Given the description of an element on the screen output the (x, y) to click on. 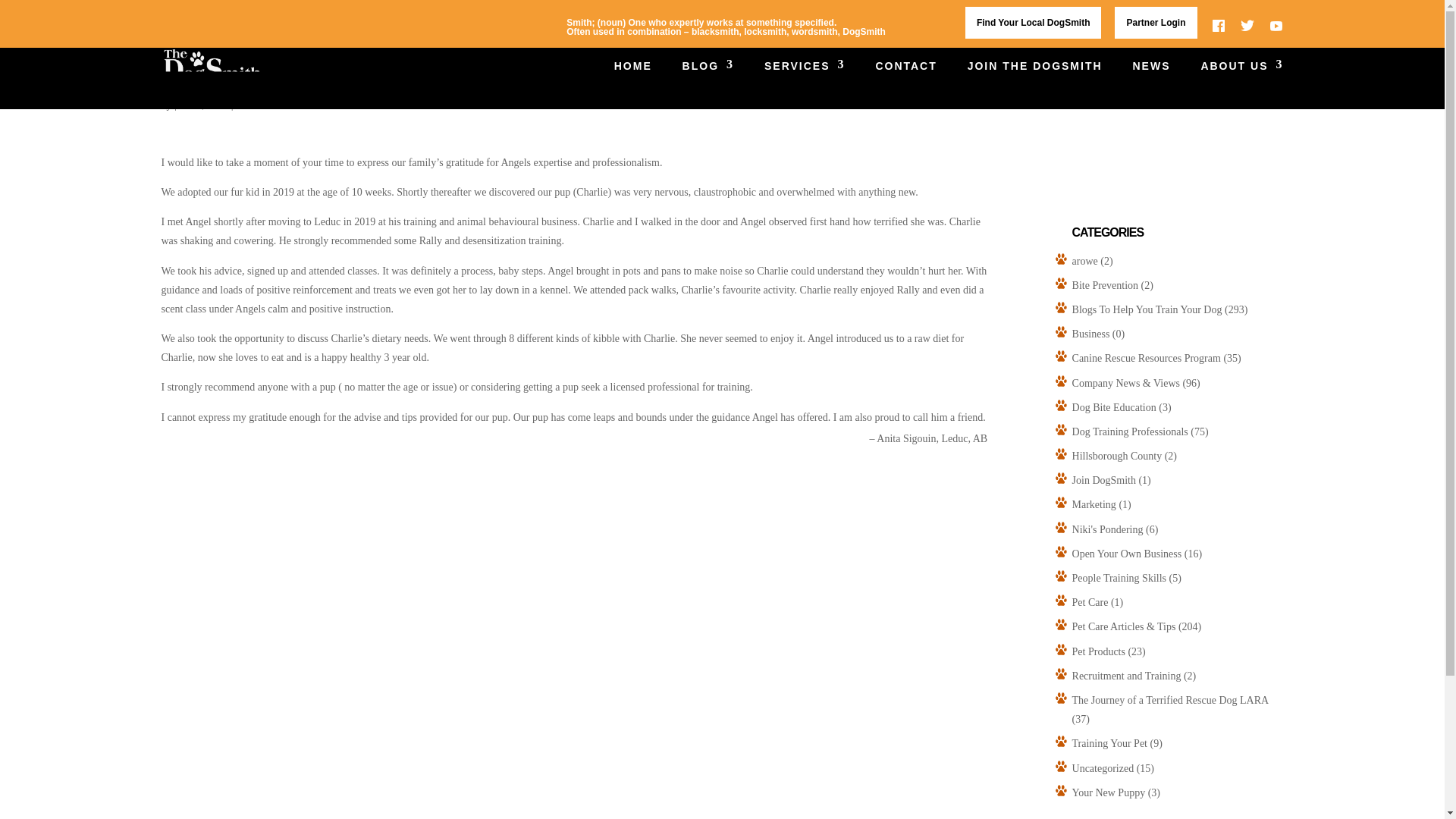
Pet Care (1089, 602)
Search (1261, 92)
ABOUT US (1240, 84)
CONTACT (905, 84)
Canine Rescue Resources Program (1146, 357)
Marketing (1093, 504)
BLOG (707, 84)
Dog Training Professionals (1129, 431)
Dog Bite Education (1113, 407)
Blogs To Help You Train Your Dog (1147, 309)
